Given the description of an element on the screen output the (x, y) to click on. 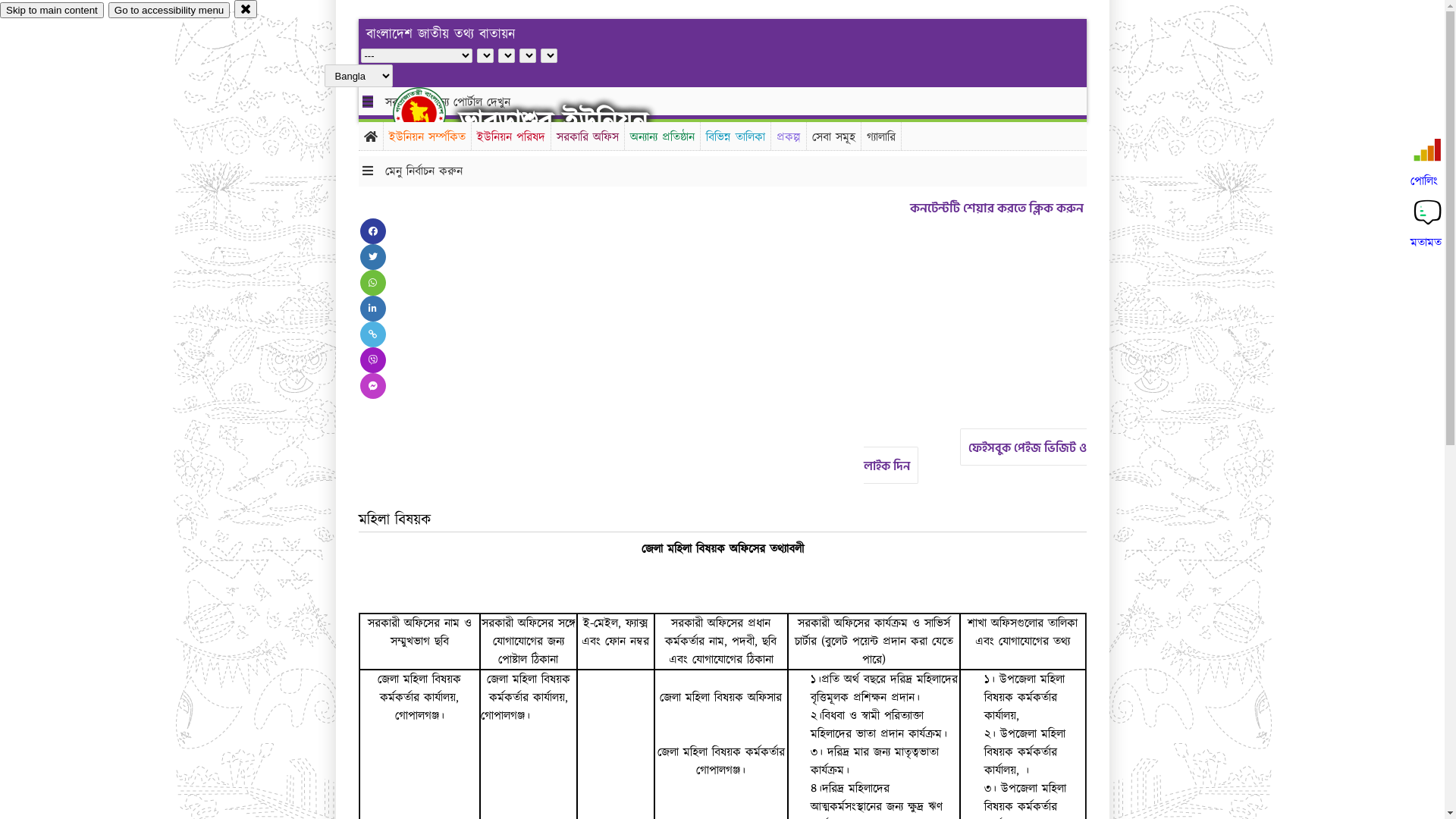
Go to accessibility menu Element type: text (168, 10)
close Element type: hover (245, 9)

                
             Element type: hover (431, 112)
Skip to main content Element type: text (51, 10)
